Given the description of an element on the screen output the (x, y) to click on. 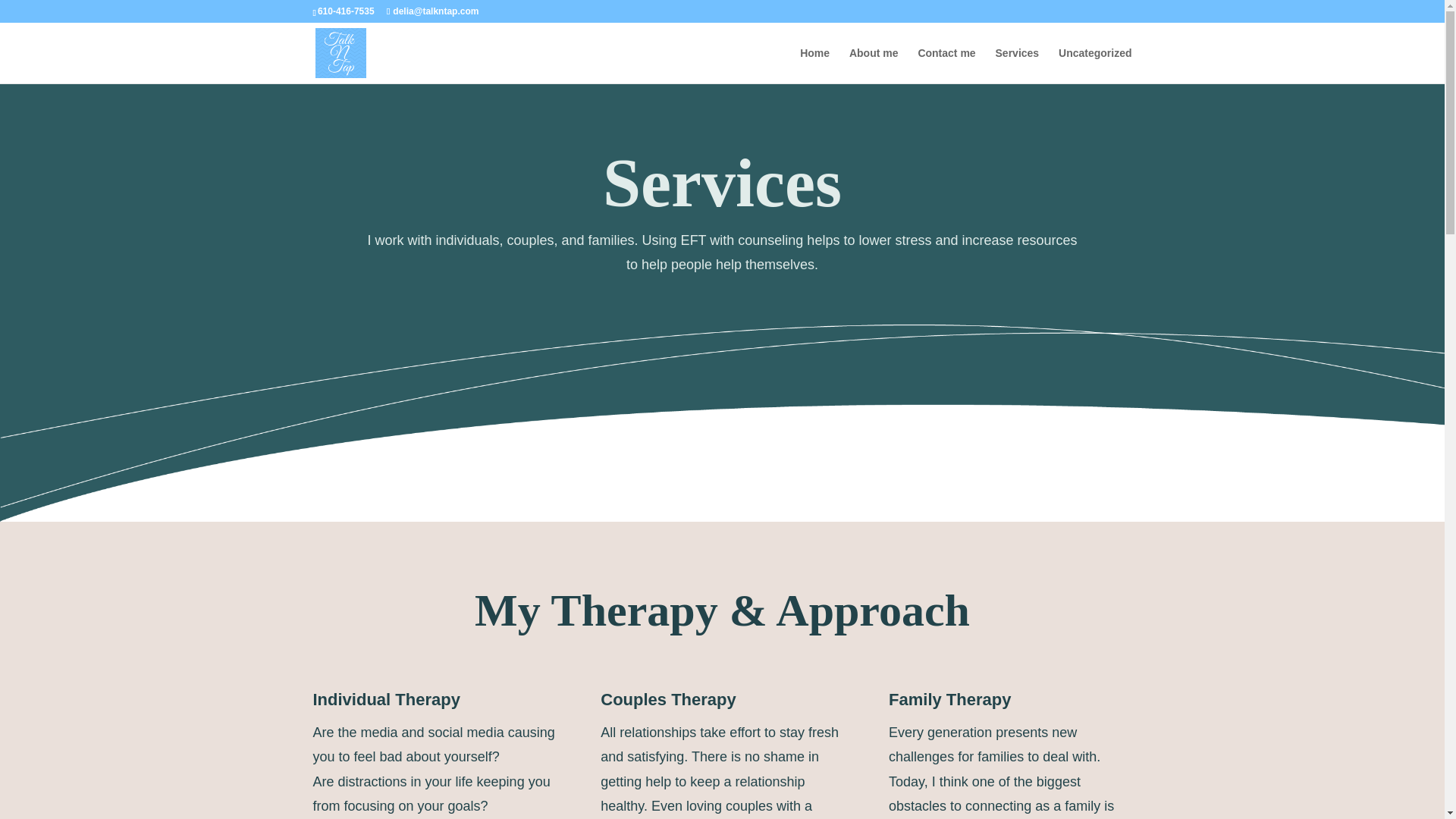
Contact me (946, 65)
Uncategorized (1094, 65)
About me (873, 65)
Services (1017, 65)
